Given the description of an element on the screen output the (x, y) to click on. 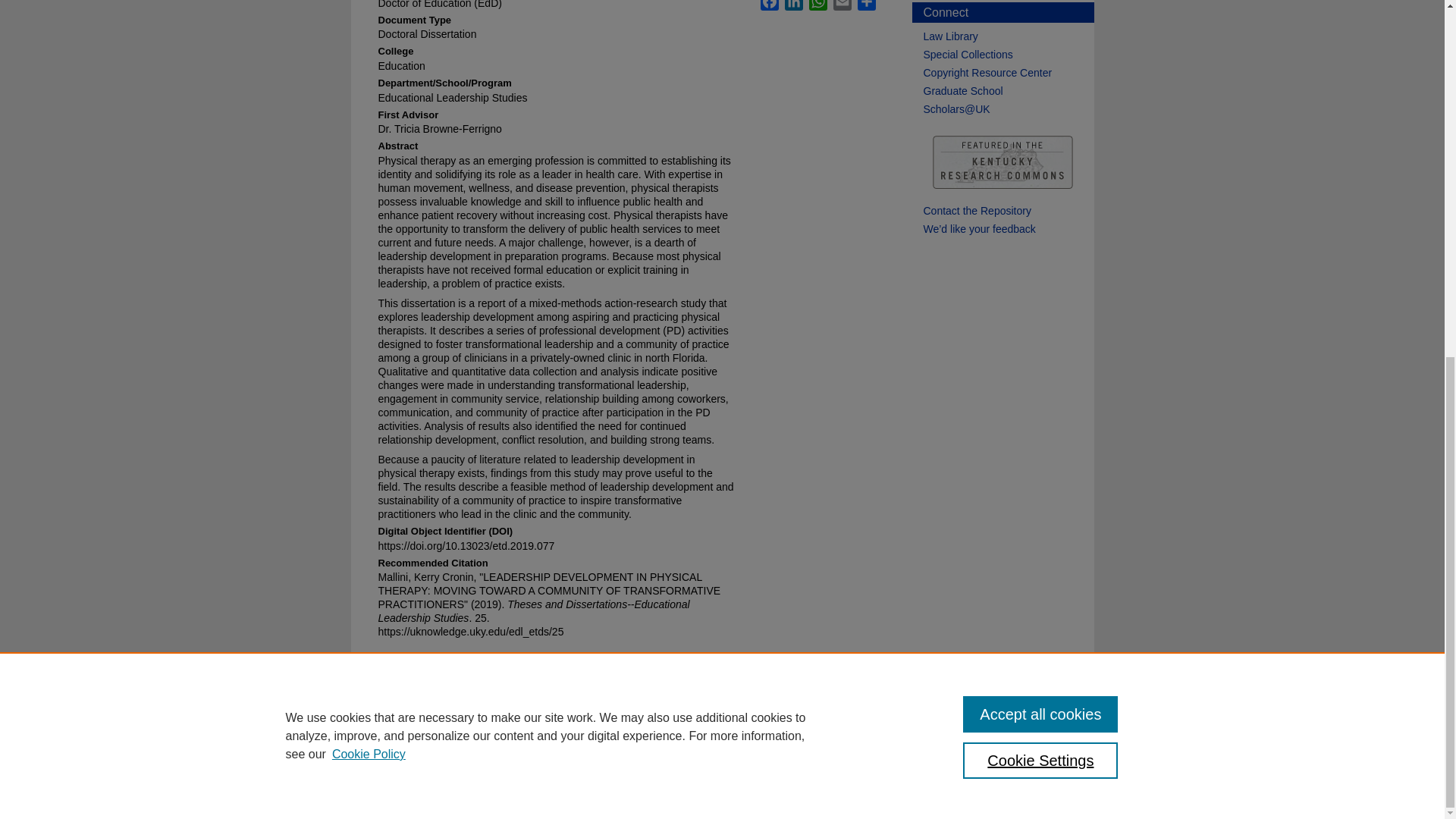
Facebook (768, 5)
LinkedIn (793, 5)
Email (841, 5)
WhatsApp (817, 5)
Share (866, 5)
